Given the description of an element on the screen output the (x, y) to click on. 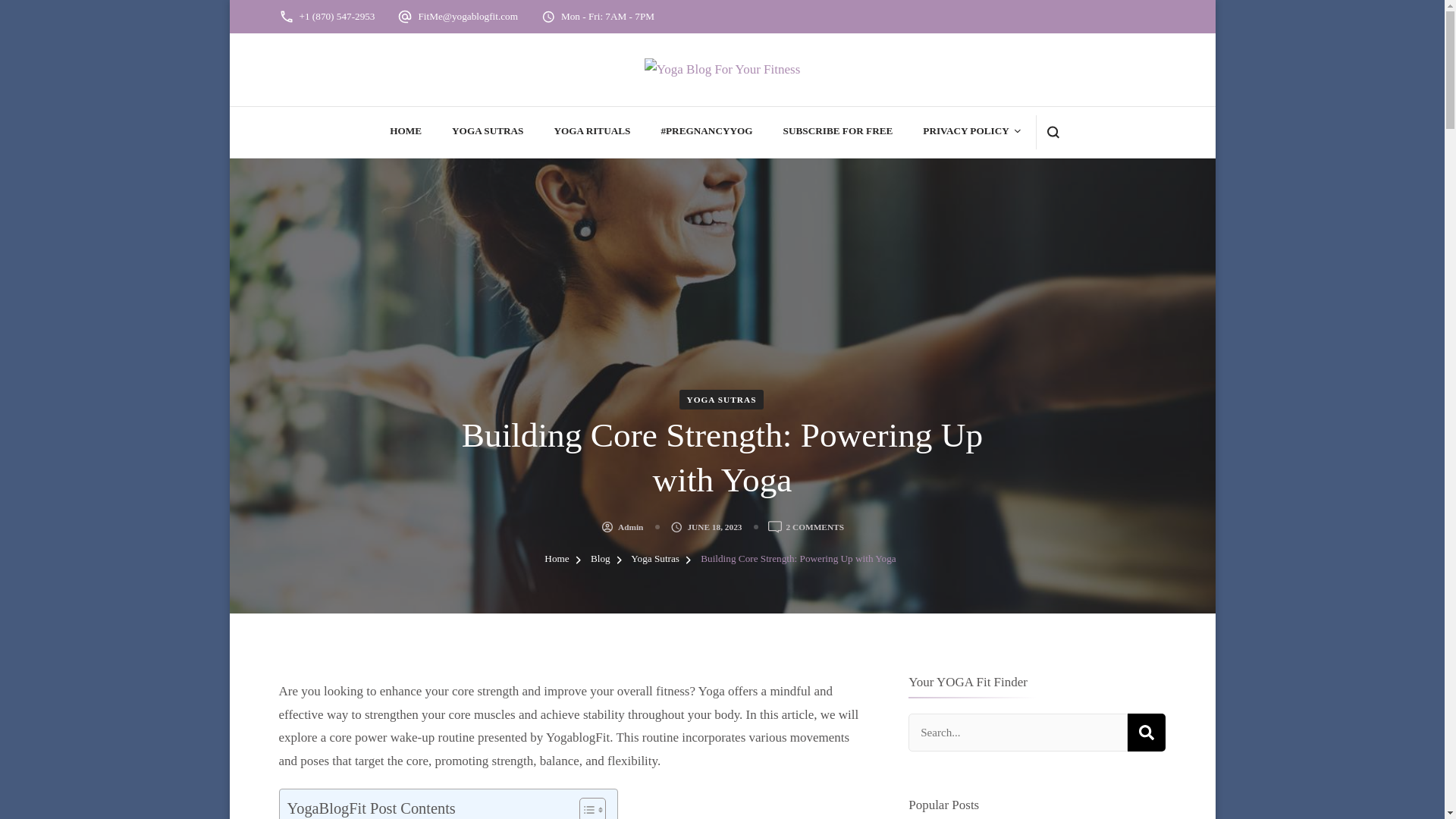
YOGA SUTRAS (721, 399)
SUBSCRIBE FOR FREE (838, 132)
Blog (601, 558)
JUNE 18, 2023 (714, 526)
YOGA RITUALS (591, 132)
Home (556, 558)
Building Core Strength: Powering Up with Yoga (814, 526)
HOME (797, 558)
Admin (406, 132)
Search (630, 526)
Yoga Blog For Your Fitness (1146, 732)
Yoga Sutras (721, 78)
YOGA SUTRAS (655, 558)
PRIVACY POLICY (486, 132)
